Given the description of an element on the screen output the (x, y) to click on. 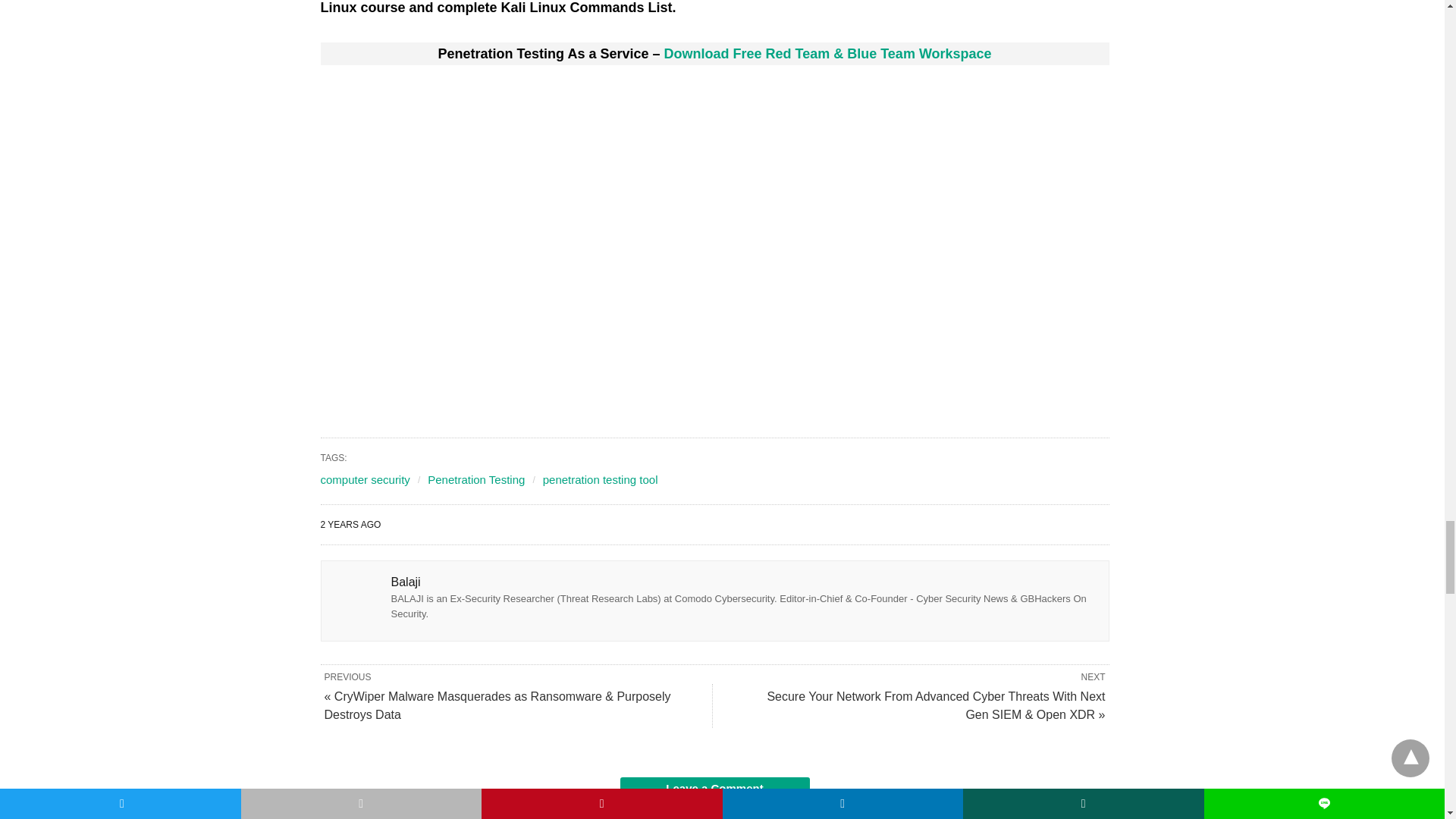
penetration testing tool (600, 479)
Penetration Testing (476, 479)
computer security (364, 479)
Leave a Comment (714, 788)
Penetration Testing (476, 479)
Leave a Comment (714, 788)
penetration testing tool (600, 479)
computer security (364, 479)
